Given the description of an element on the screen output the (x, y) to click on. 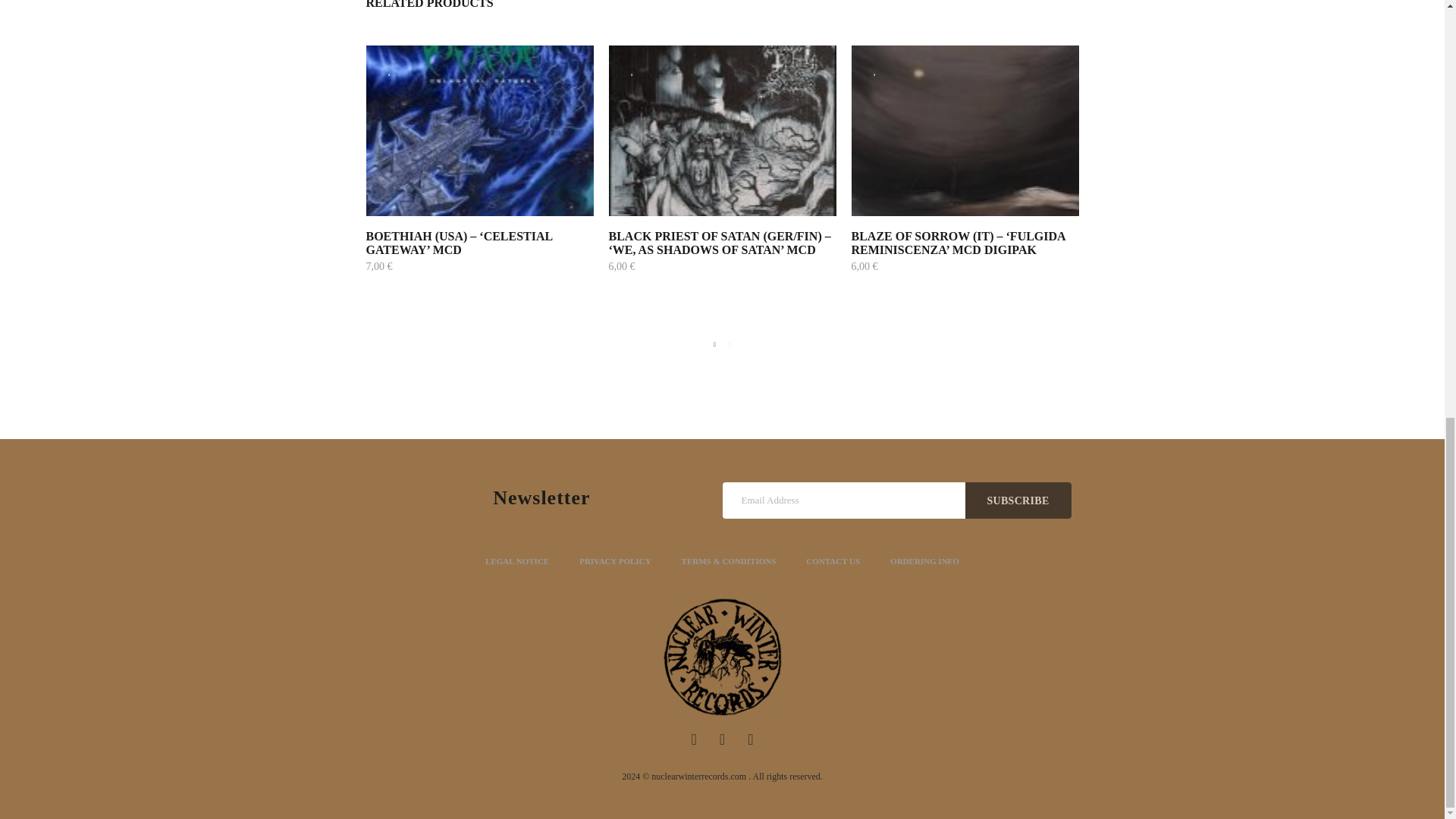
Add to wishlist (389, 69)
SUBSCRIBE (1016, 500)
